Given the description of an element on the screen output the (x, y) to click on. 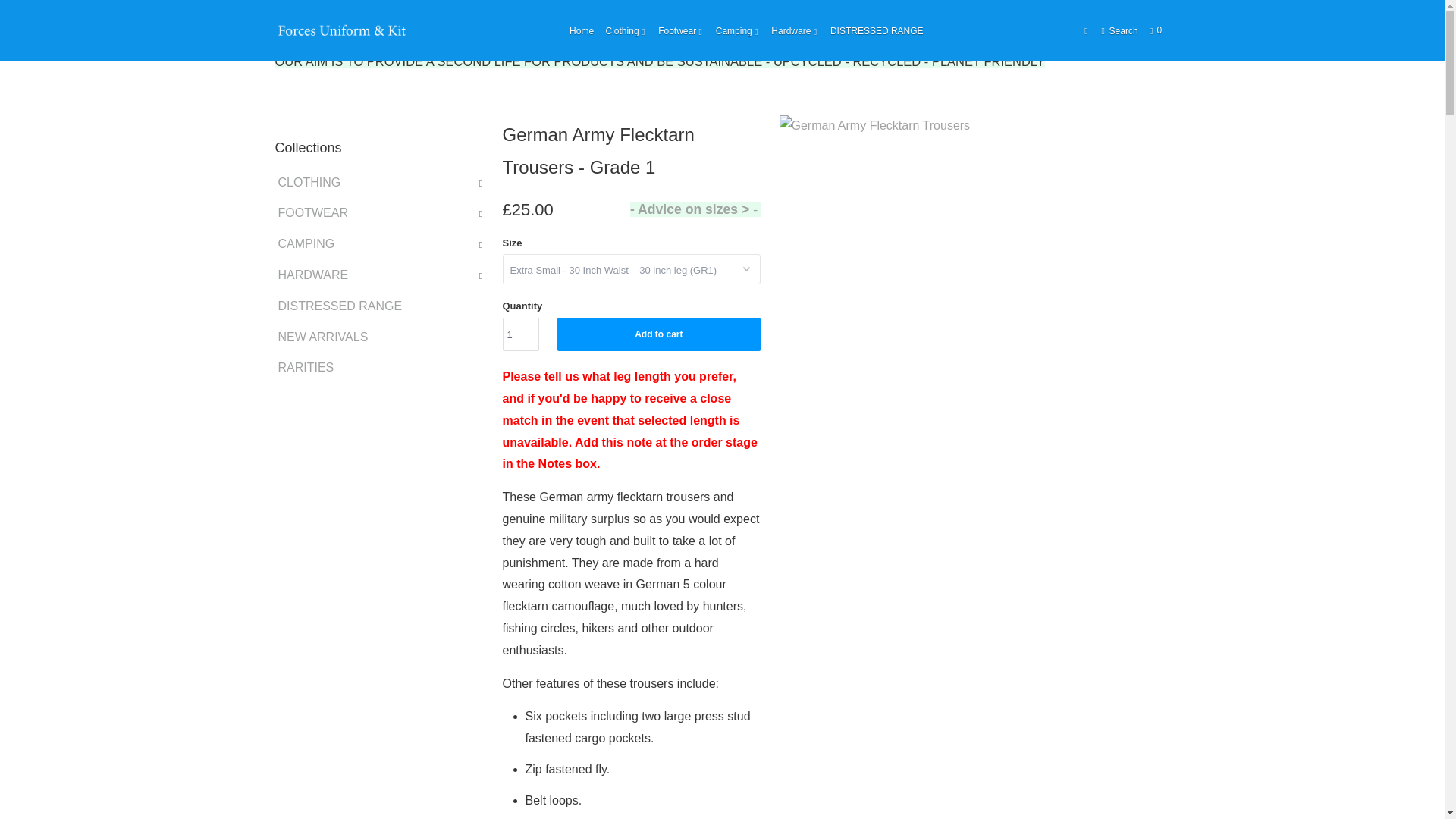
Products (336, 31)
Forces Uniform and Kit (342, 30)
Search (1118, 30)
My Account  (1087, 30)
German Army Flecktarn Trousers (972, 247)
1 (520, 334)
Forces Uniform and Kit (289, 31)
